Given the description of an element on the screen output the (x, y) to click on. 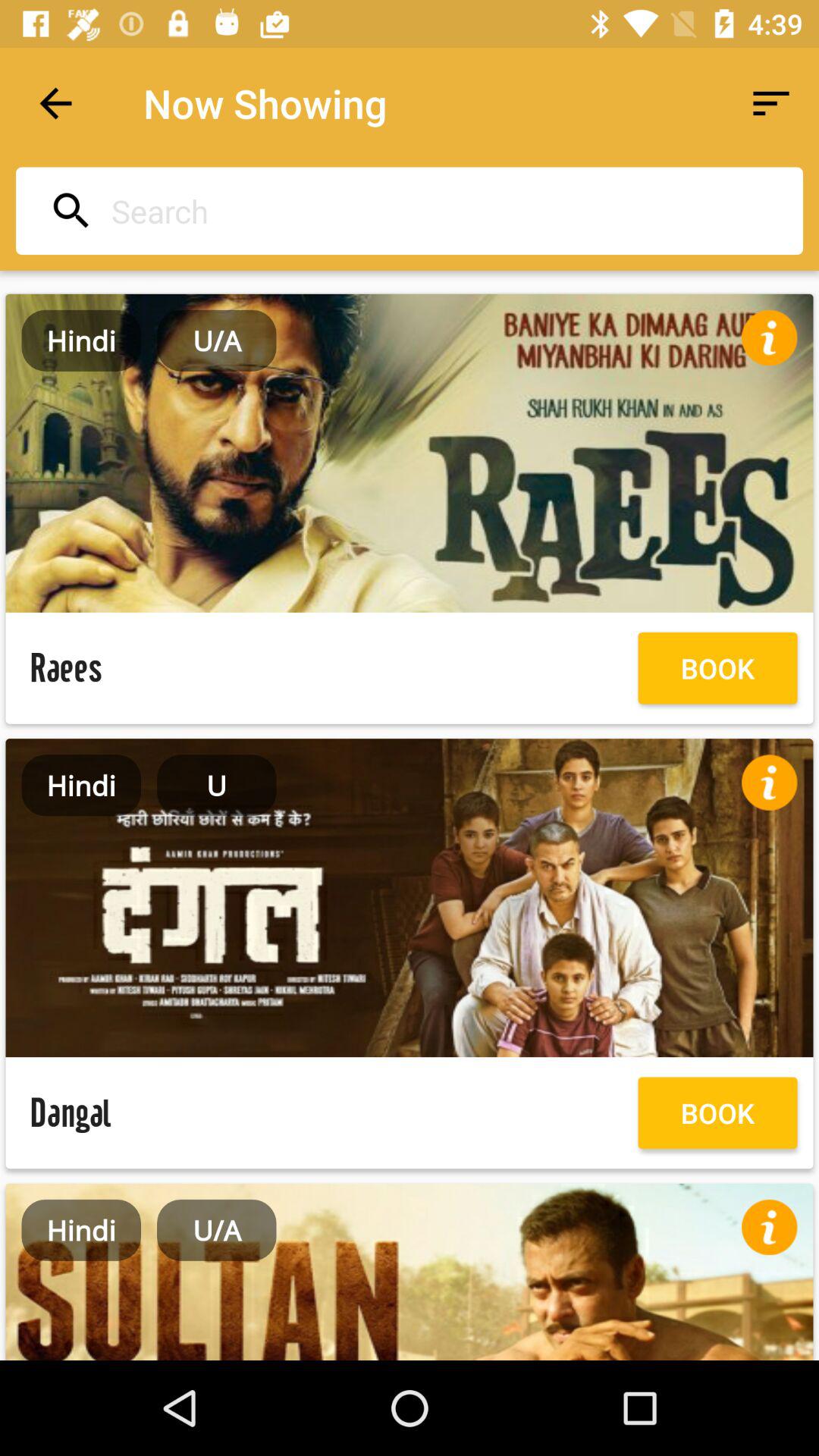
show info (769, 337)
